Given the description of an element on the screen output the (x, y) to click on. 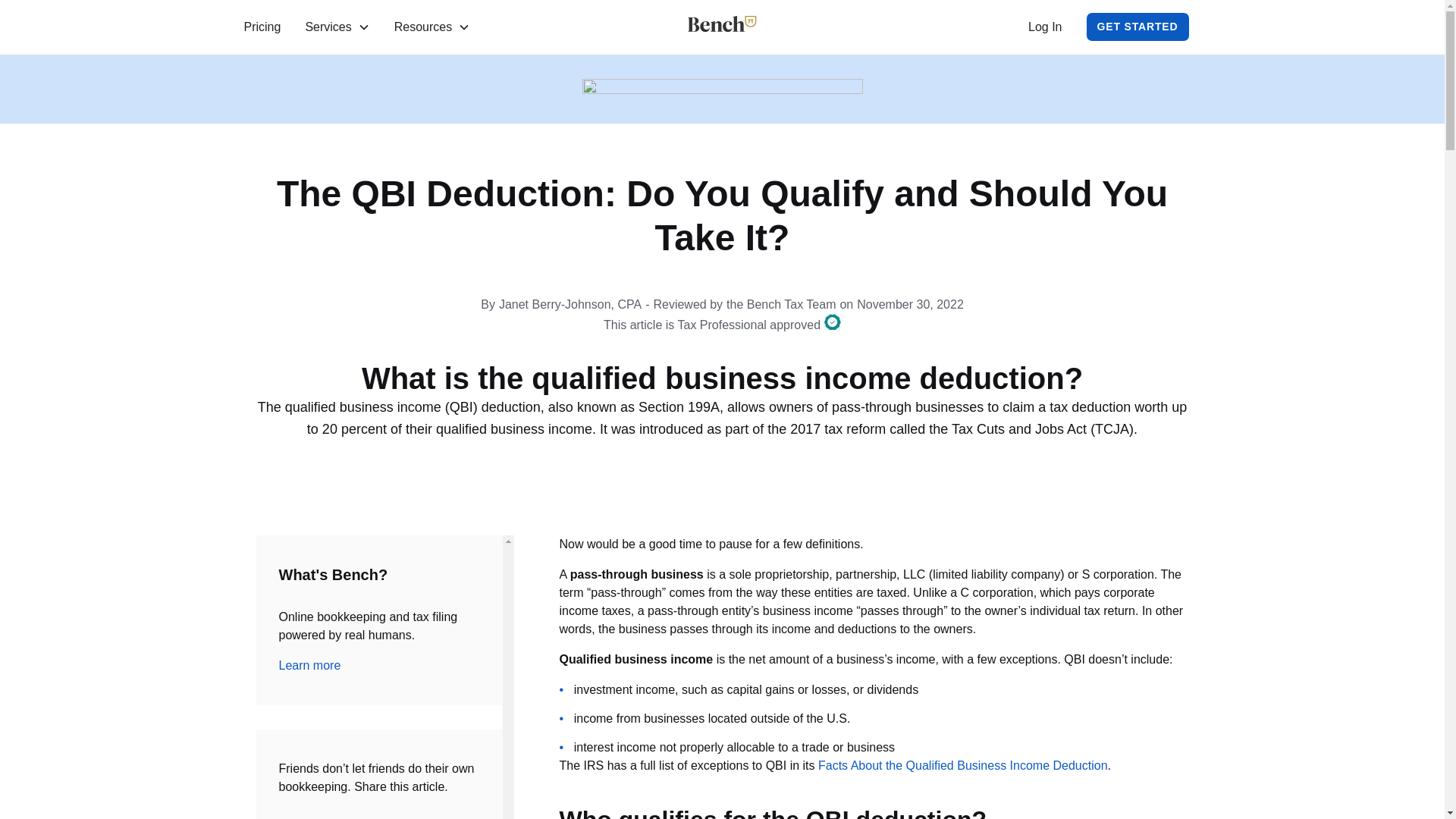
Learn more (309, 665)
GET STARTED (1137, 26)
Tax Cuts and Jobs Act (1019, 428)
Log In (1044, 27)
Janet Berry-Johnson, CPA (570, 304)
Pricing (262, 27)
Facts About the Qualified Business Income Deduction (963, 765)
the Bench Tax Team (780, 304)
Group (832, 321)
